Given the description of an element on the screen output the (x, y) to click on. 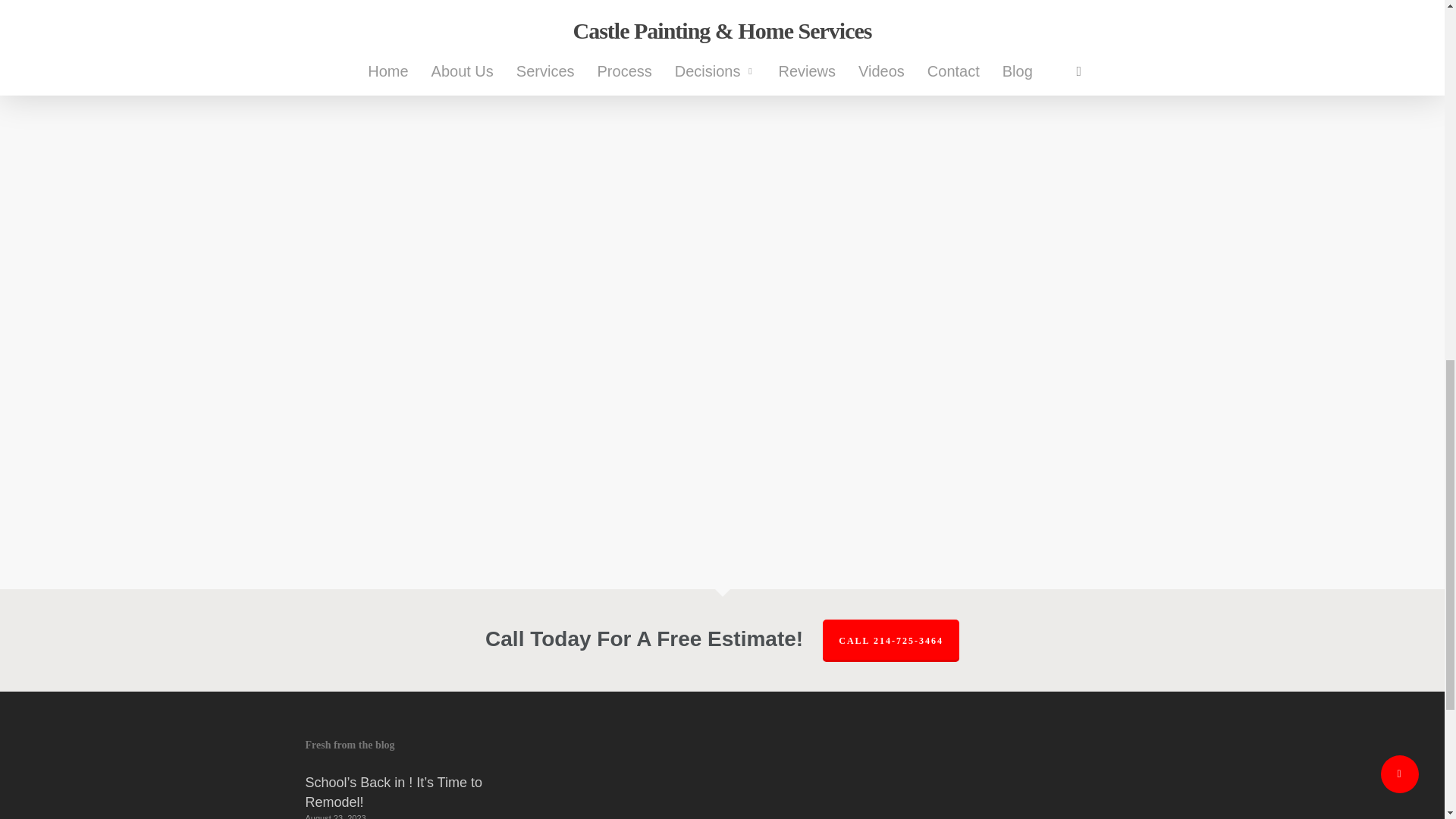
CALL 214-725-3464 (890, 640)
